Given the description of an element on the screen output the (x, y) to click on. 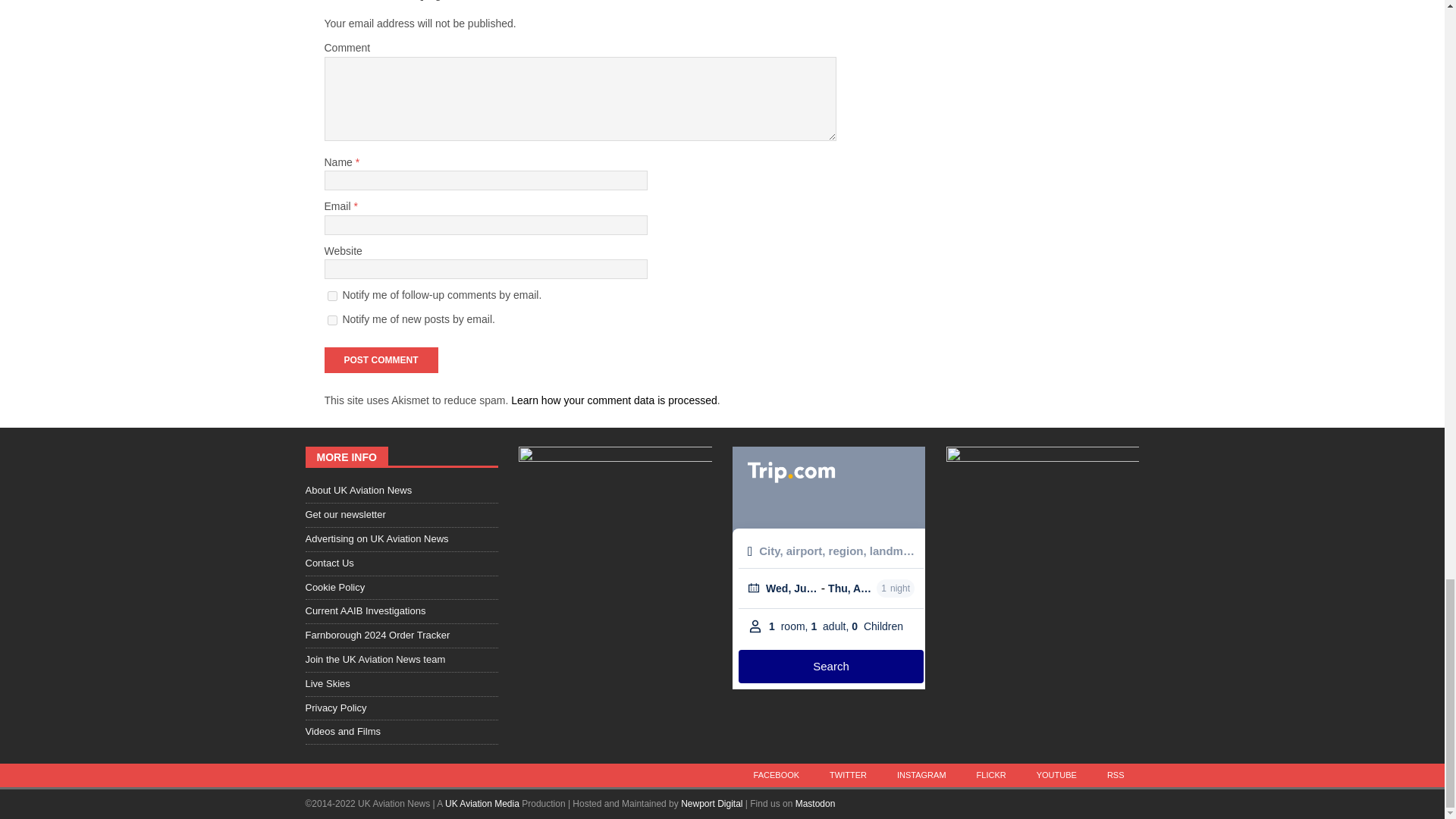
subscribe (332, 320)
subscribe (332, 296)
Post Comment (381, 360)
